Given the description of an element on the screen output the (x, y) to click on. 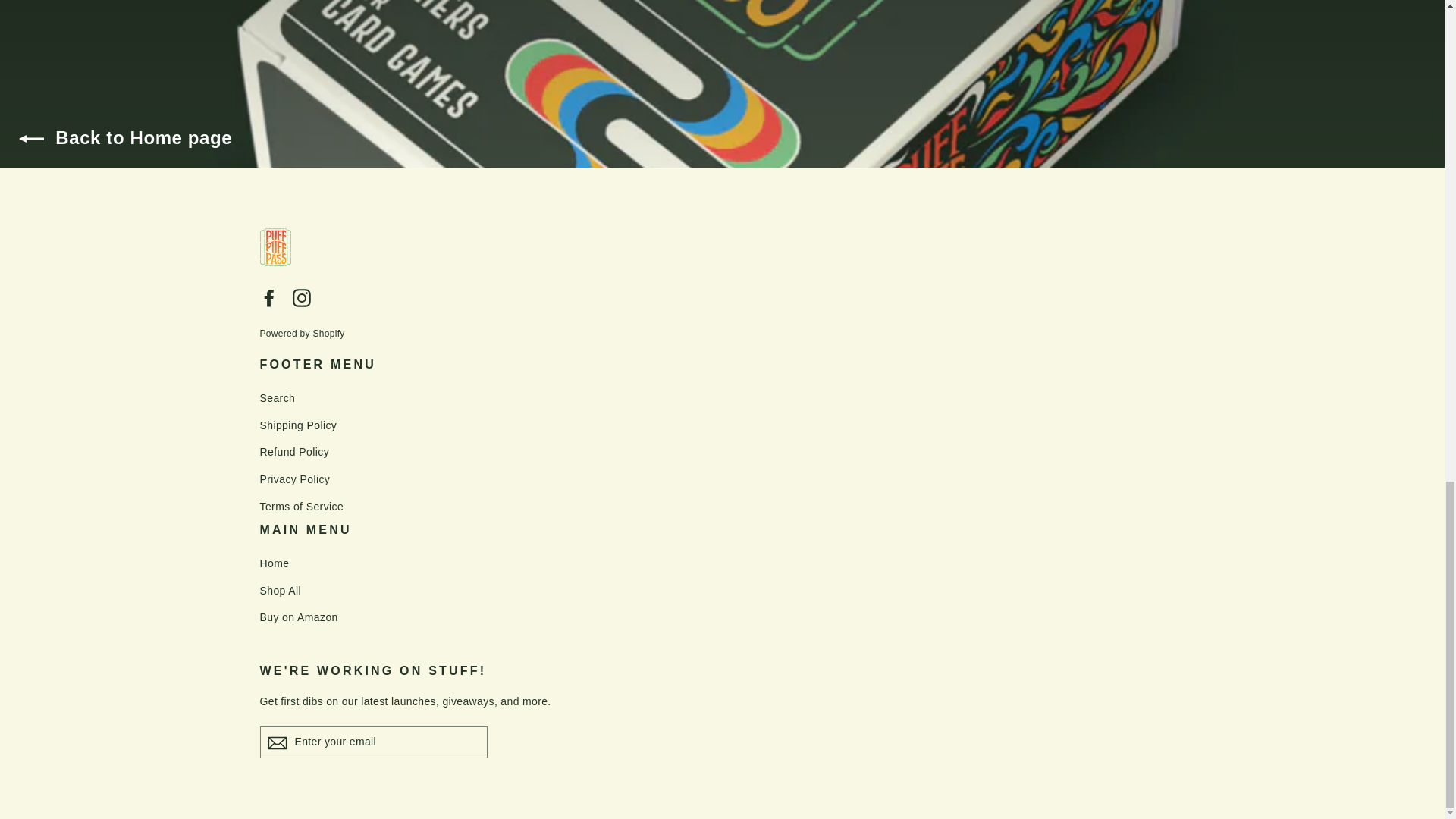
Terms of Service (722, 507)
Search (722, 398)
Puff Puff Pass Game on Instagram (301, 296)
Refund Policy (722, 452)
Shipping Policy (722, 426)
Instagram (301, 296)
Home (722, 564)
Buy on Amazon (722, 617)
Shop All (722, 591)
Powered by Shopify (301, 333)
Privacy Policy (722, 479)
